Given the description of an element on the screen output the (x, y) to click on. 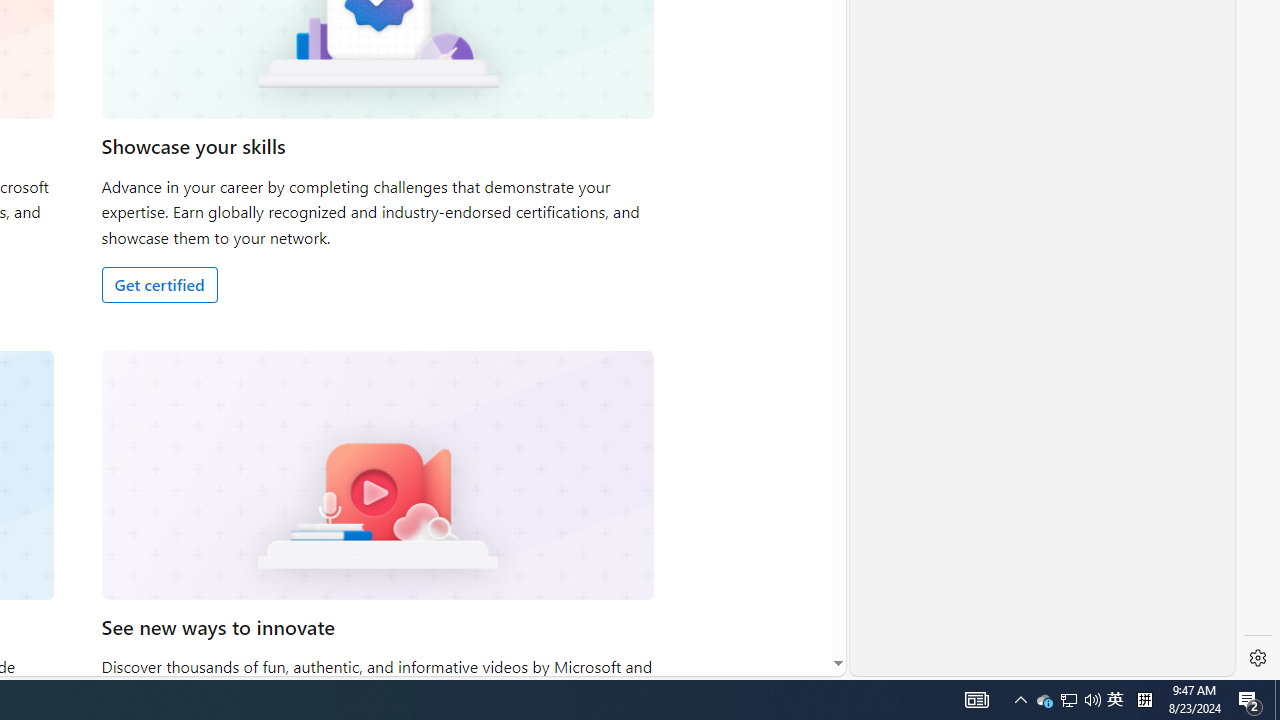
Get certified (159, 284)
